Given the description of an element on the screen output the (x, y) to click on. 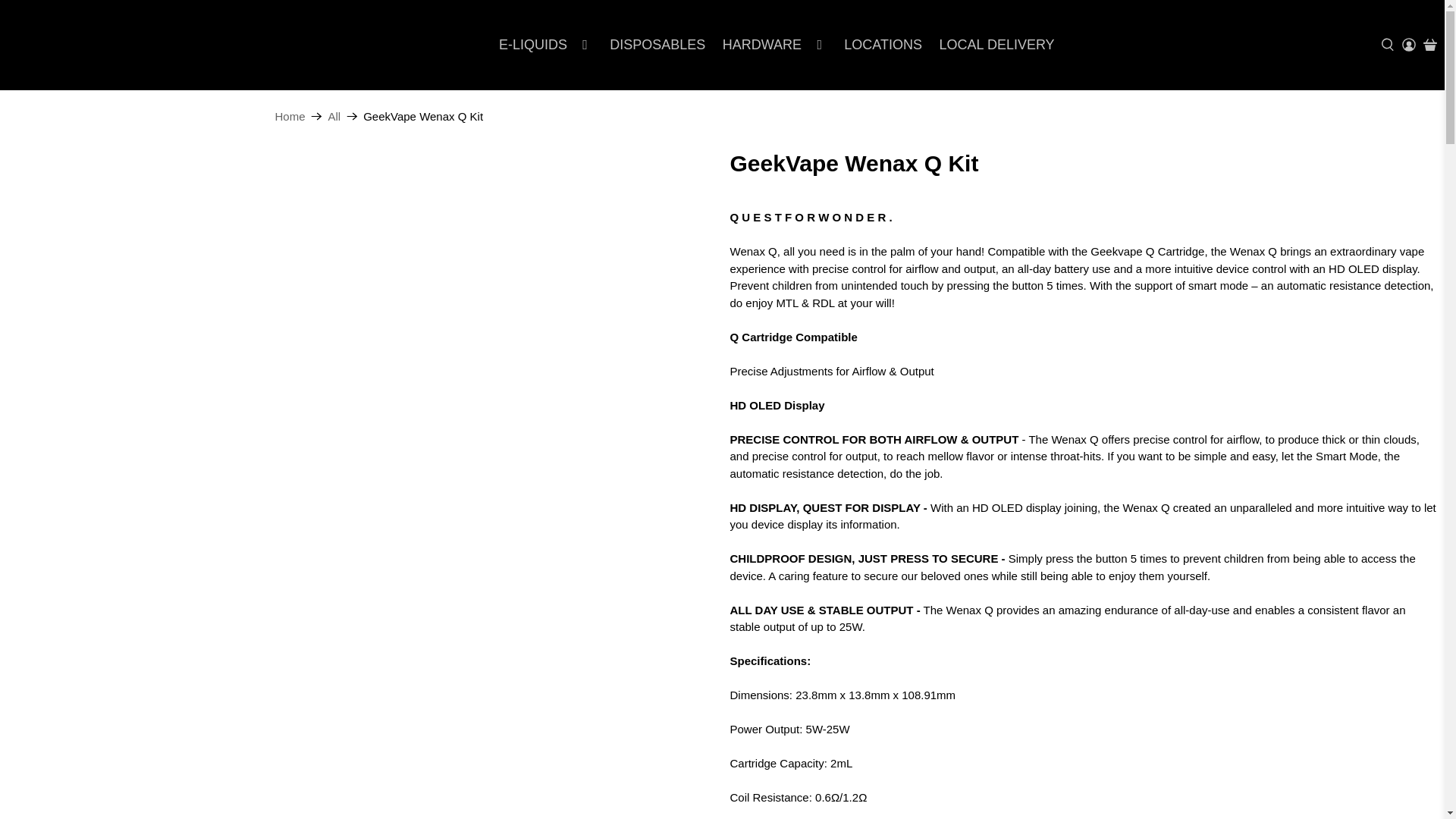
723 Vapor (91, 44)
E-LIQUIDS (545, 44)
723 Vapor (289, 116)
